Given the description of an element on the screen output the (x, y) to click on. 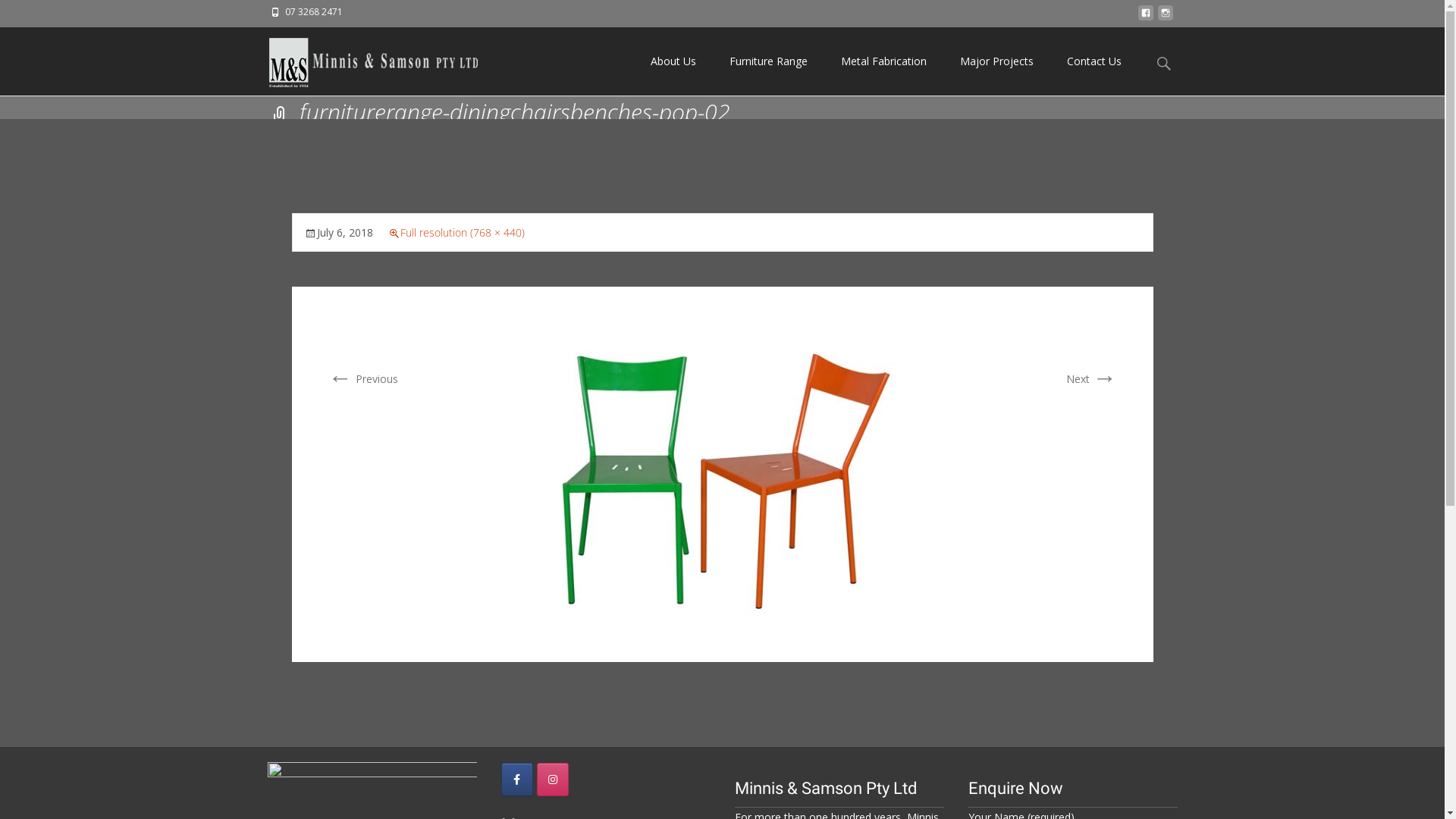
instagram Element type: hover (1164, 16)
About Us Element type: text (673, 61)
Furniture Range Element type: text (768, 61)
facebook Element type: hover (1144, 16)
Metal Fabrication Element type: text (882, 61)
Minnis & Samson Pty Ltd on Facebook Element type: hover (516, 779)
Contact Us Element type: text (1093, 61)
Search Element type: text (18, 15)
Major Projects Element type: text (996, 61)
Skip to content Element type: text (633, 26)
07 3268 2471 Element type: text (313, 11)
furniturerange-diningchairsbenches-pop-02 Element type: hover (721, 472)
Search for: Element type: hover (1163, 63)
Minnis & Samson Pty Ltd Element type: hover (360, 58)
Minnis & Samson Pty Ltd on Instagram Element type: hover (552, 779)
